Given the description of an element on the screen output the (x, y) to click on. 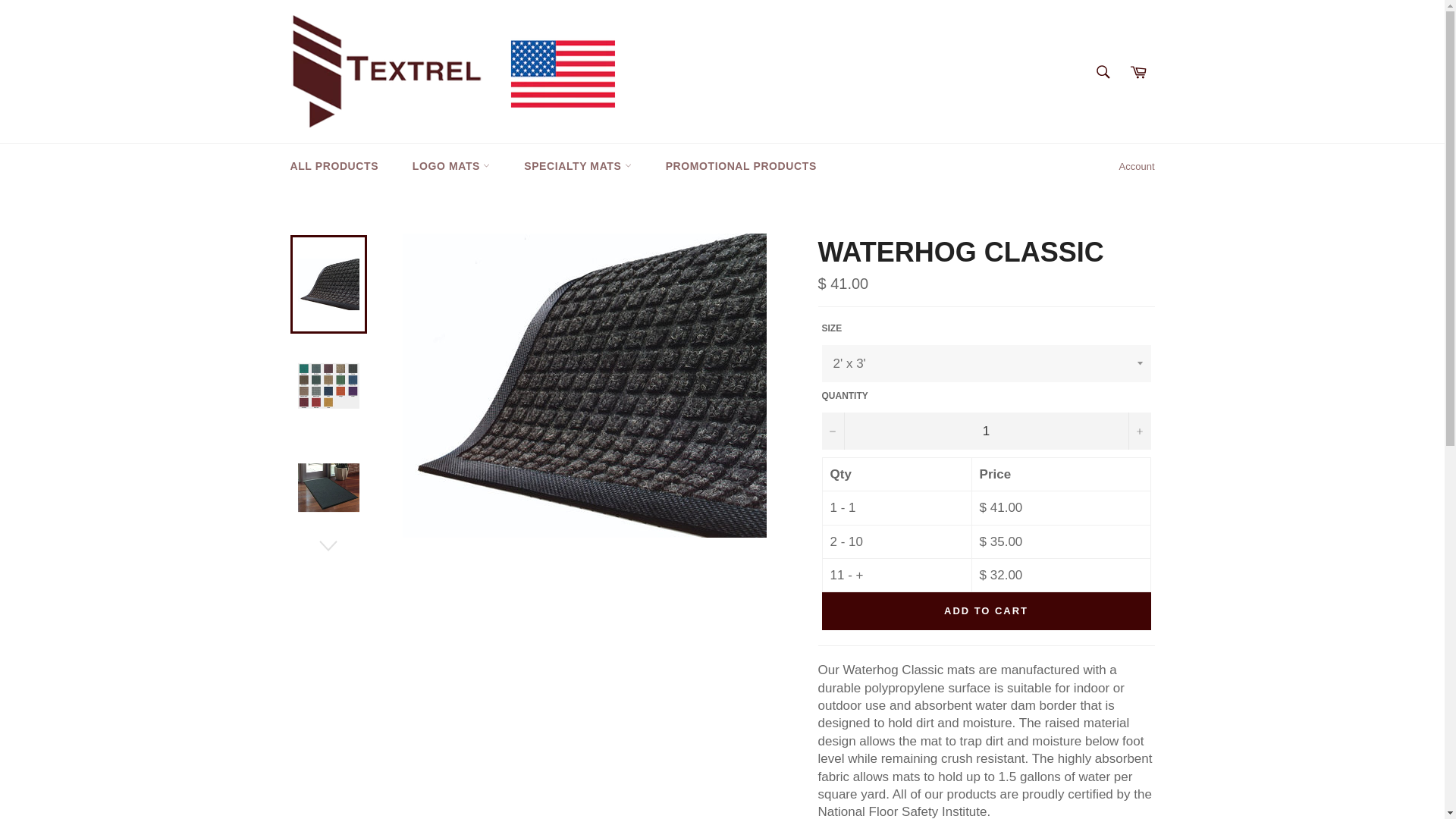
LOGO MATS (451, 166)
Cart (1138, 71)
Search (1103, 71)
SPECIALTY MATS (577, 166)
1 (986, 430)
ALL PRODUCTS (334, 166)
